Given the description of an element on the screen output the (x, y) to click on. 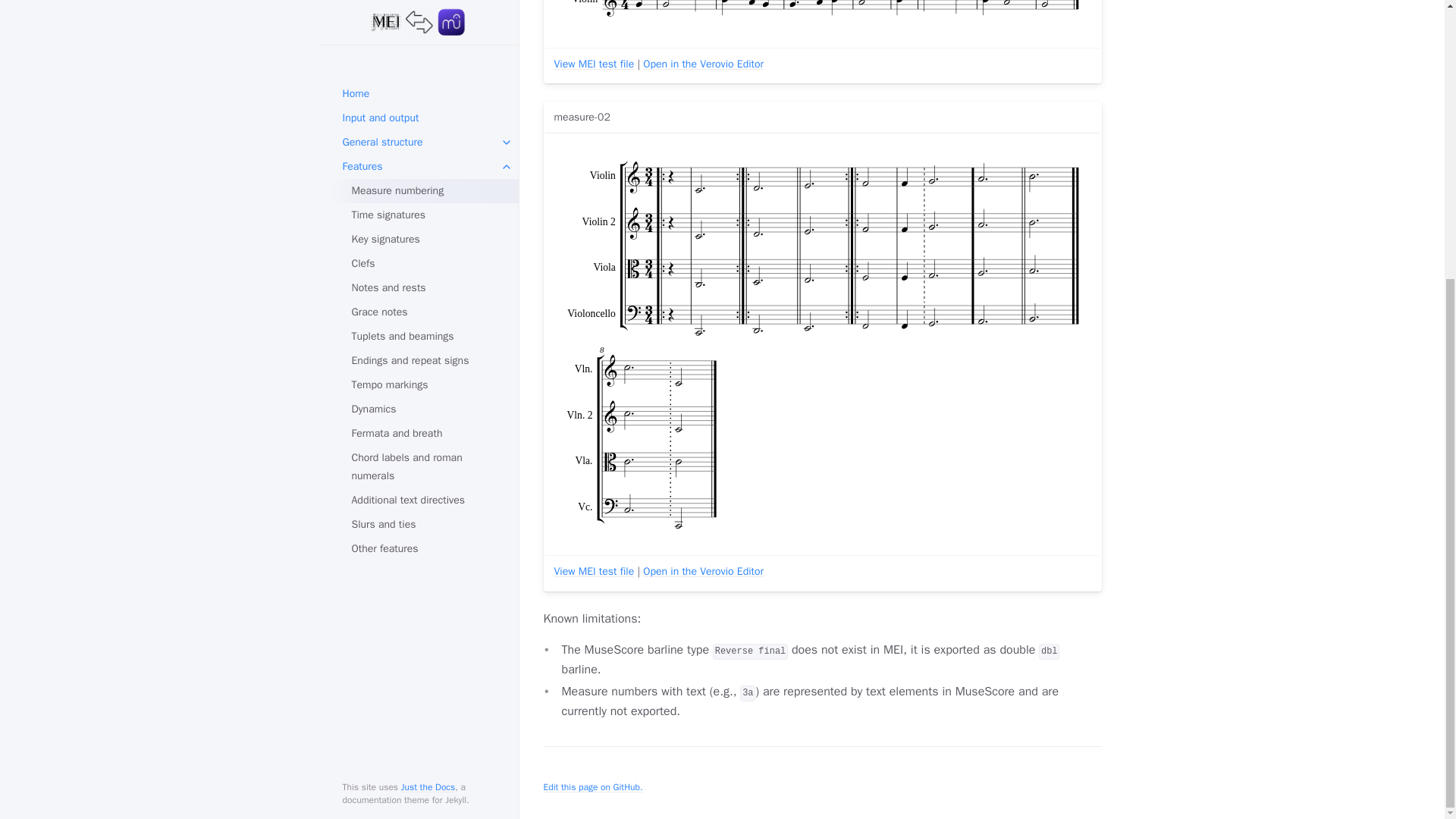
Open in the Verovio Editor (702, 571)
Edit this page on GitHub. (592, 787)
Open in the Verovio Editor (702, 63)
Slurs and ties (422, 109)
View MEI test file (593, 571)
Just the Docs (428, 371)
Dynamics (422, 2)
Additional text directives (422, 84)
View MEI test file (593, 63)
Other features (422, 133)
